Given the description of an element on the screen output the (x, y) to click on. 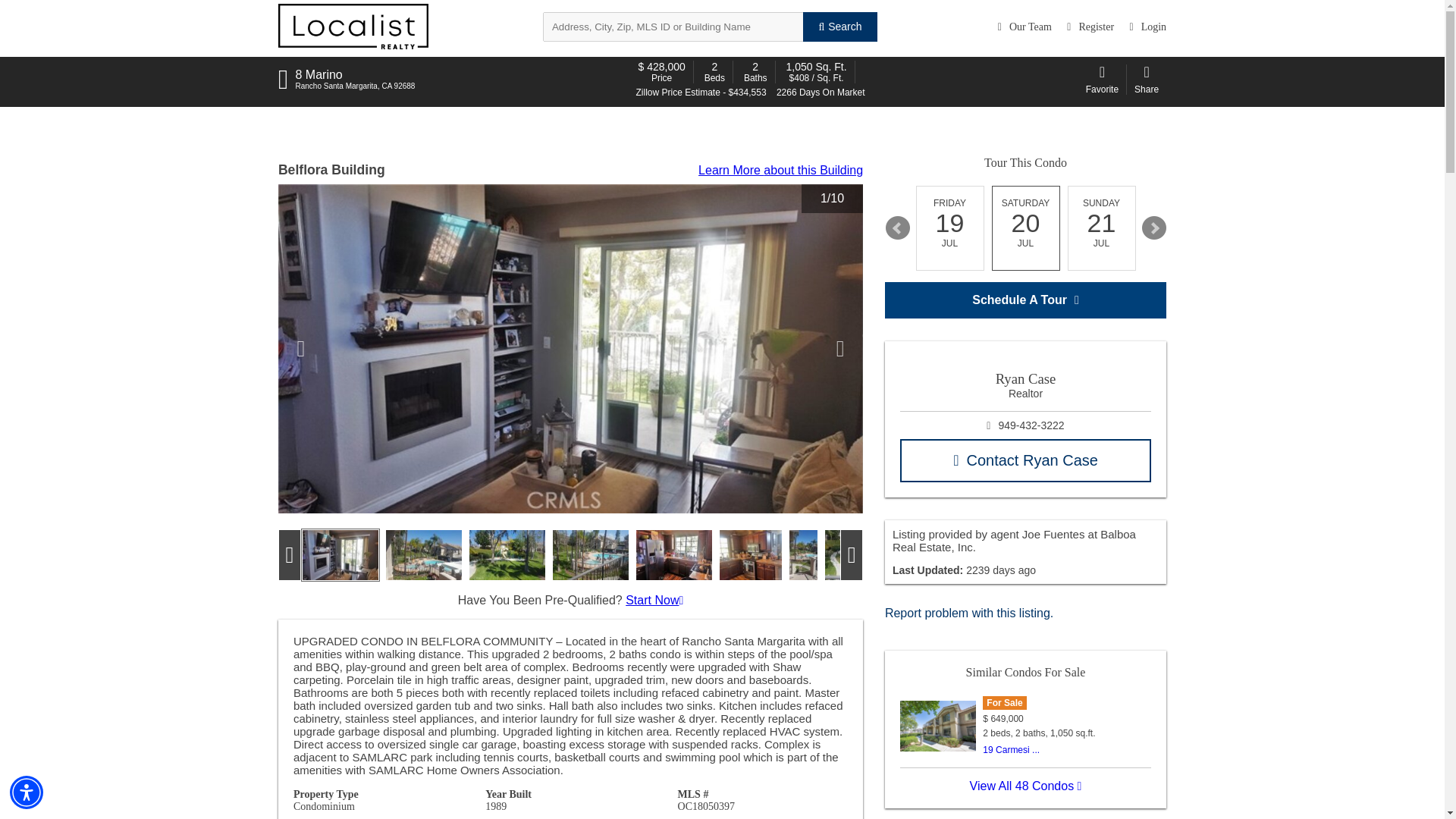
Login (1148, 26)
Accessibility Menu (26, 792)
Start Now (654, 599)
Search (839, 26)
Our Team (1024, 26)
Register (1090, 26)
Learn More about this Building (780, 169)
